Given the description of an element on the screen output the (x, y) to click on. 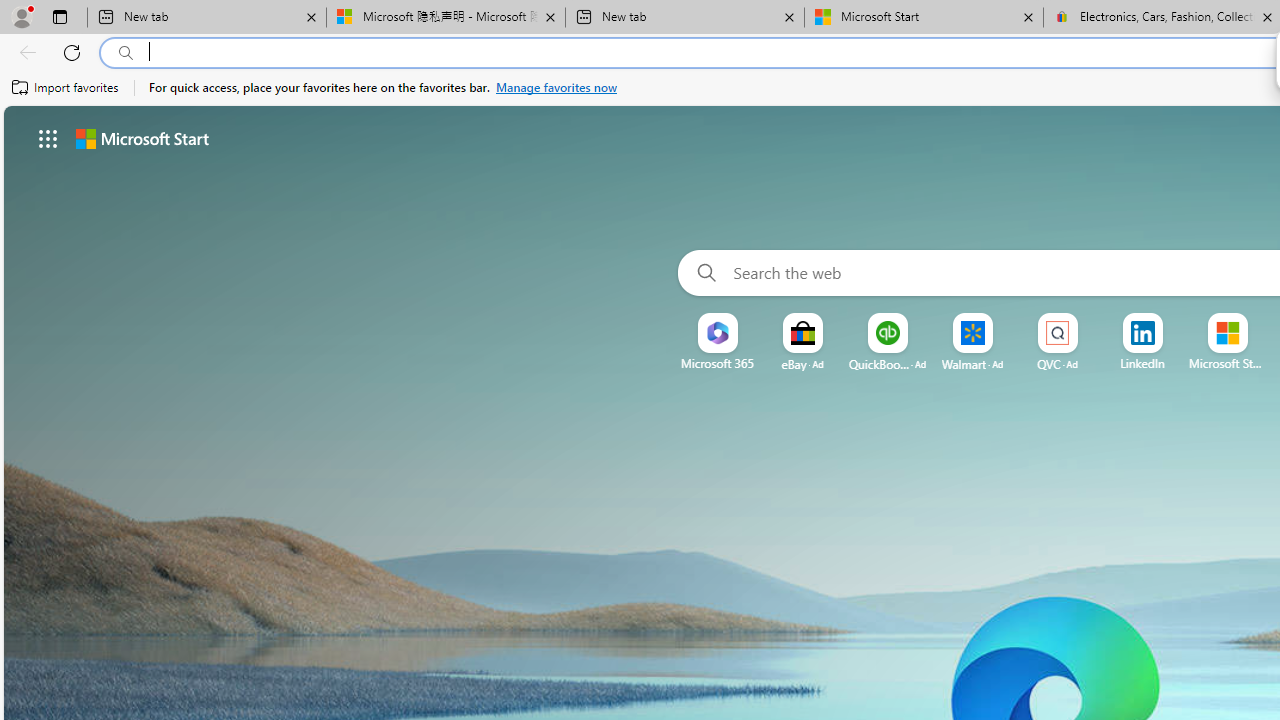
Import favorites (65, 88)
Manage favorites now (556, 88)
Search icon (125, 53)
